Given the description of an element on the screen output the (x, y) to click on. 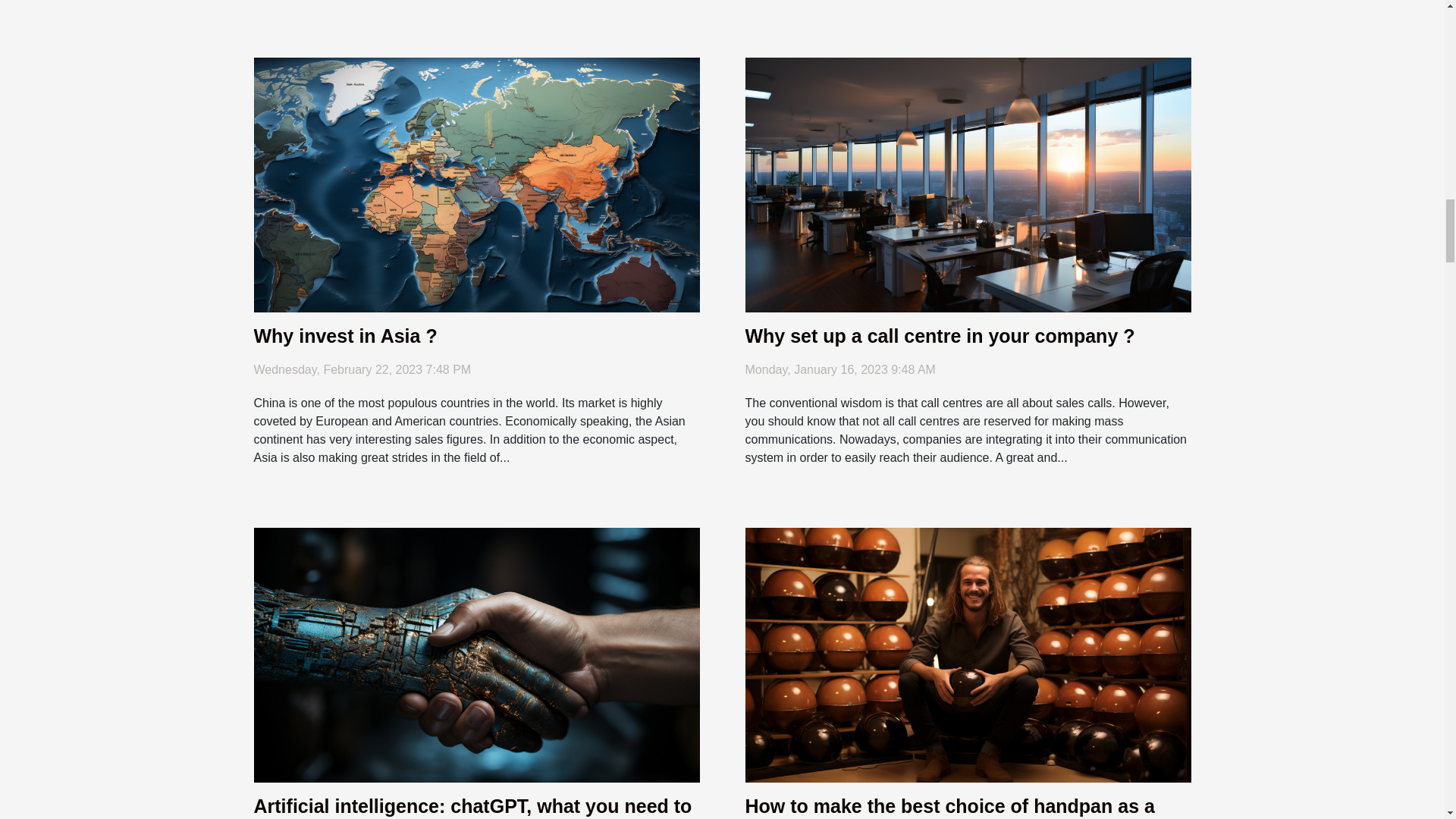
Why invest in Asia ? (344, 335)
Why invest in Asia ? (475, 183)
Why invest in Asia ? (344, 335)
Artificial intelligence: chatGPT, what you need to know (472, 806)
Why set up a call centre in your company ? (939, 335)
How to make the best choice of handpan as a beginner? (949, 806)
Why set up a call centre in your company ? (939, 335)
Artificial intelligence: chatGPT, what you  need to know (475, 653)
Why set up a call centre in your company ? (967, 183)
